Given the description of an element on the screen output the (x, y) to click on. 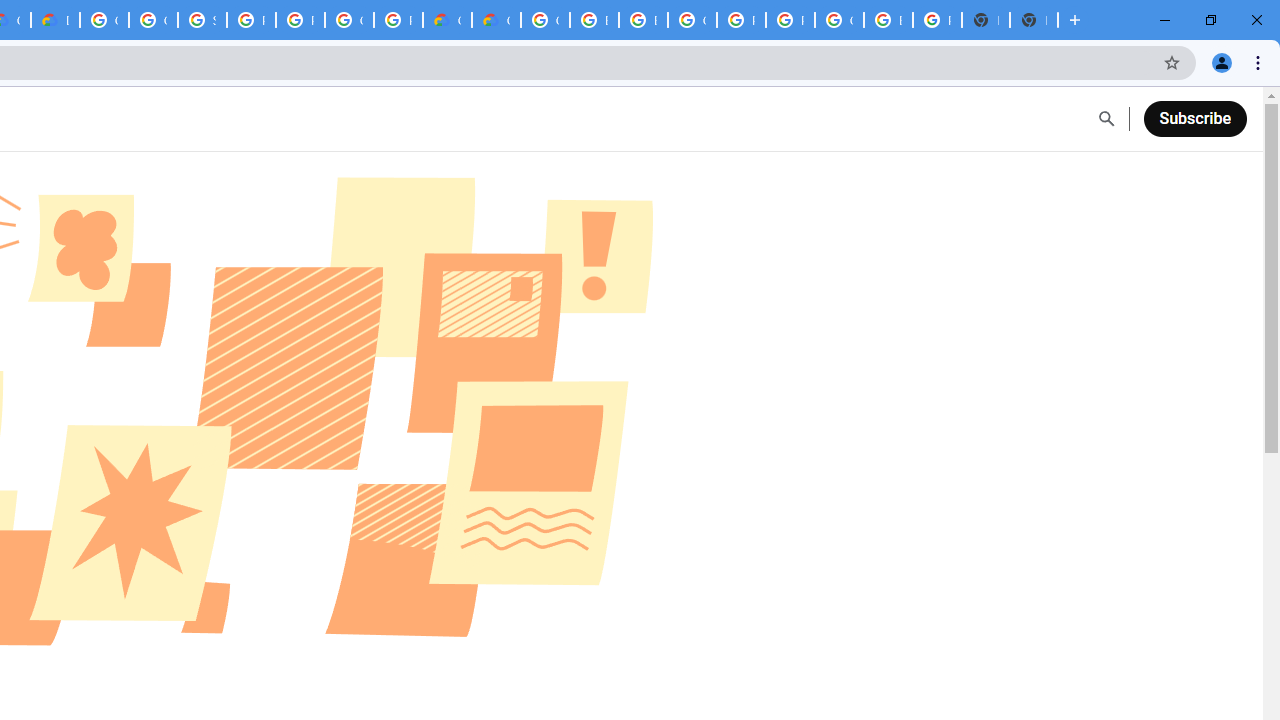
Google Cloud Estimate Summary (496, 20)
Customer Care | Google Cloud (447, 20)
Subscribe (1194, 118)
Browse Chrome as a guest - Computer - Google Chrome Help (594, 20)
New Tab (1033, 20)
Google Cloud Platform (692, 20)
